Given the description of an element on the screen output the (x, y) to click on. 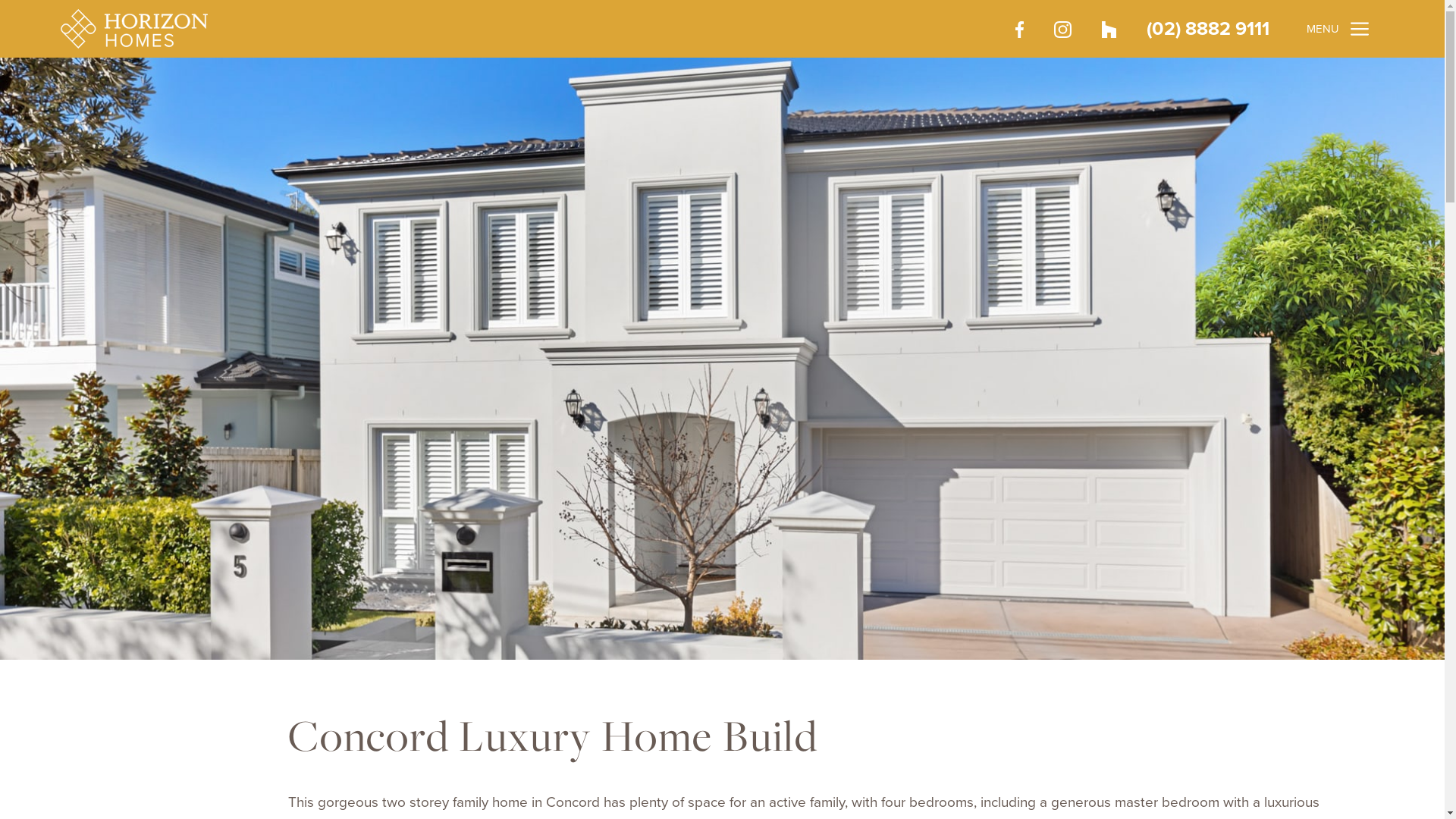
Instagram Element type: text (1061, 28)
Houzz Element type: text (1108, 28)
MENU Element type: text (1333, 28)
(02) 8882 9111 Element type: text (1207, 28)
Facebook Element type: text (1019, 28)
